Given the description of an element on the screen output the (x, y) to click on. 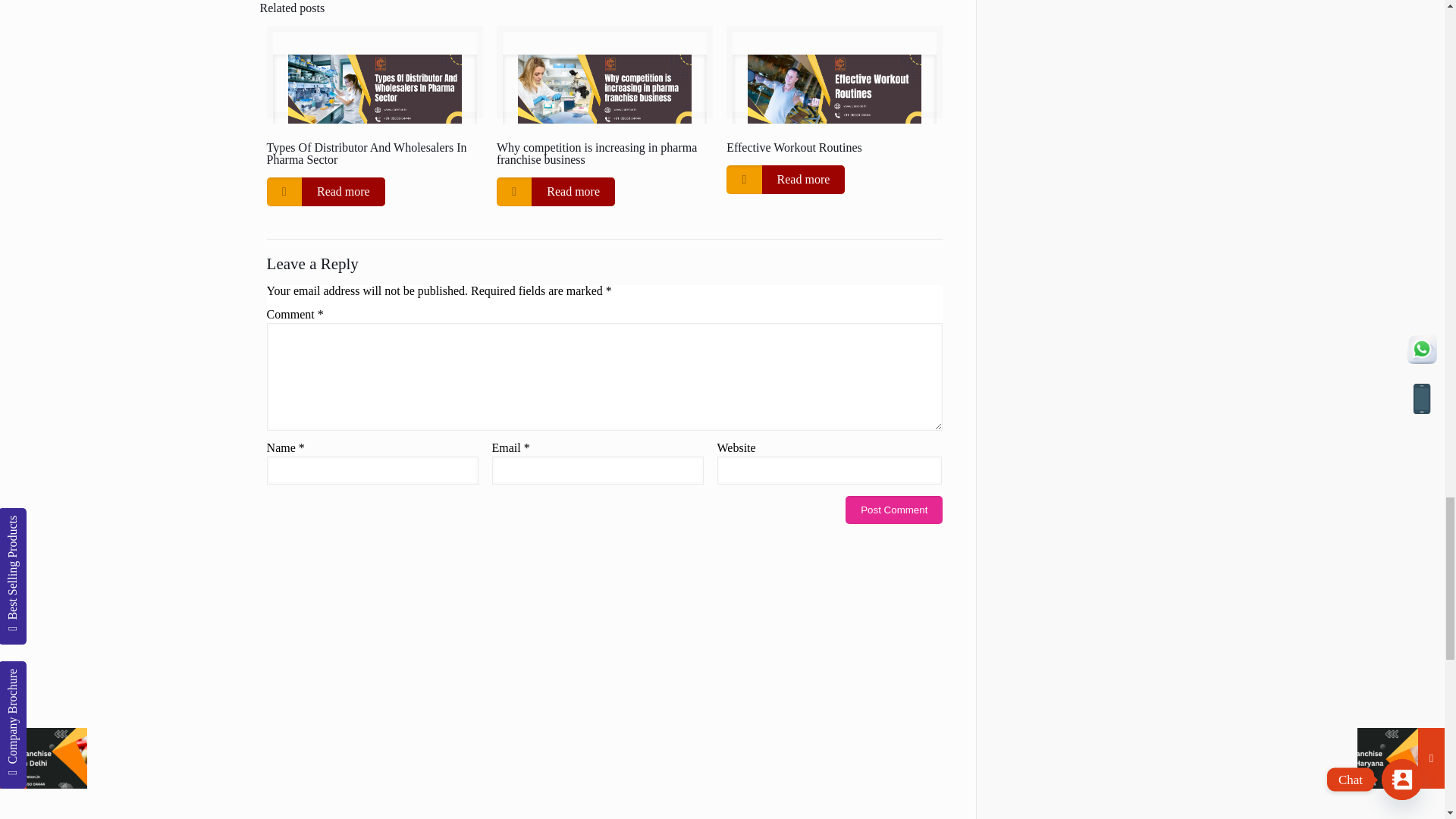
Post Comment (893, 510)
